Given the description of an element on the screen output the (x, y) to click on. 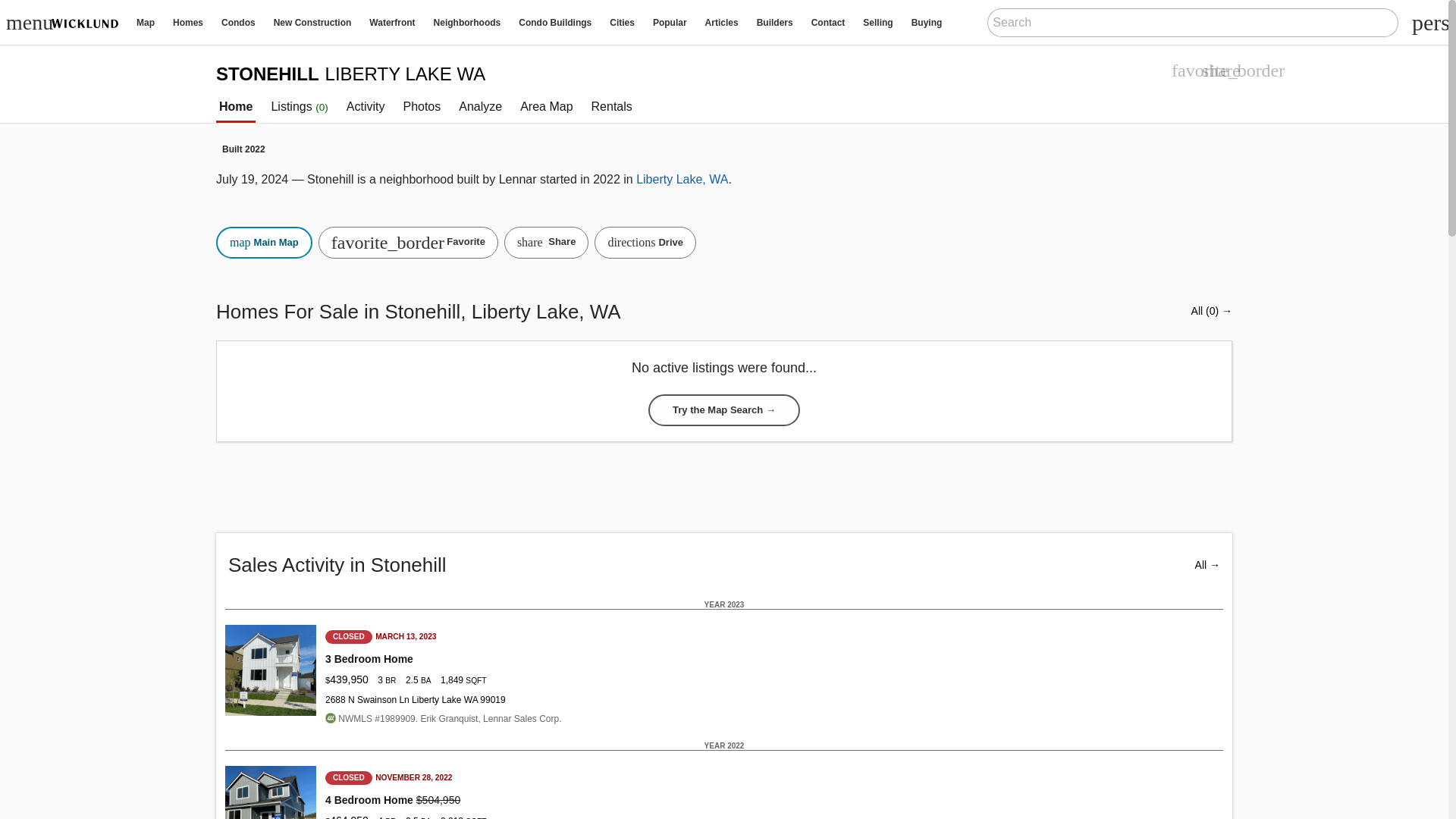
Condo Buildings (554, 21)
Popular (669, 21)
Map (145, 21)
Selling (877, 21)
New Construction (312, 21)
Buying (927, 21)
Neighborhoods (468, 21)
Articles (721, 21)
Condos (238, 21)
Home (89, 22)
Neighborhoods (468, 21)
Waterfront (391, 21)
Contact (828, 21)
Homes (187, 21)
Cities (621, 21)
